Given the description of an element on the screen output the (x, y) to click on. 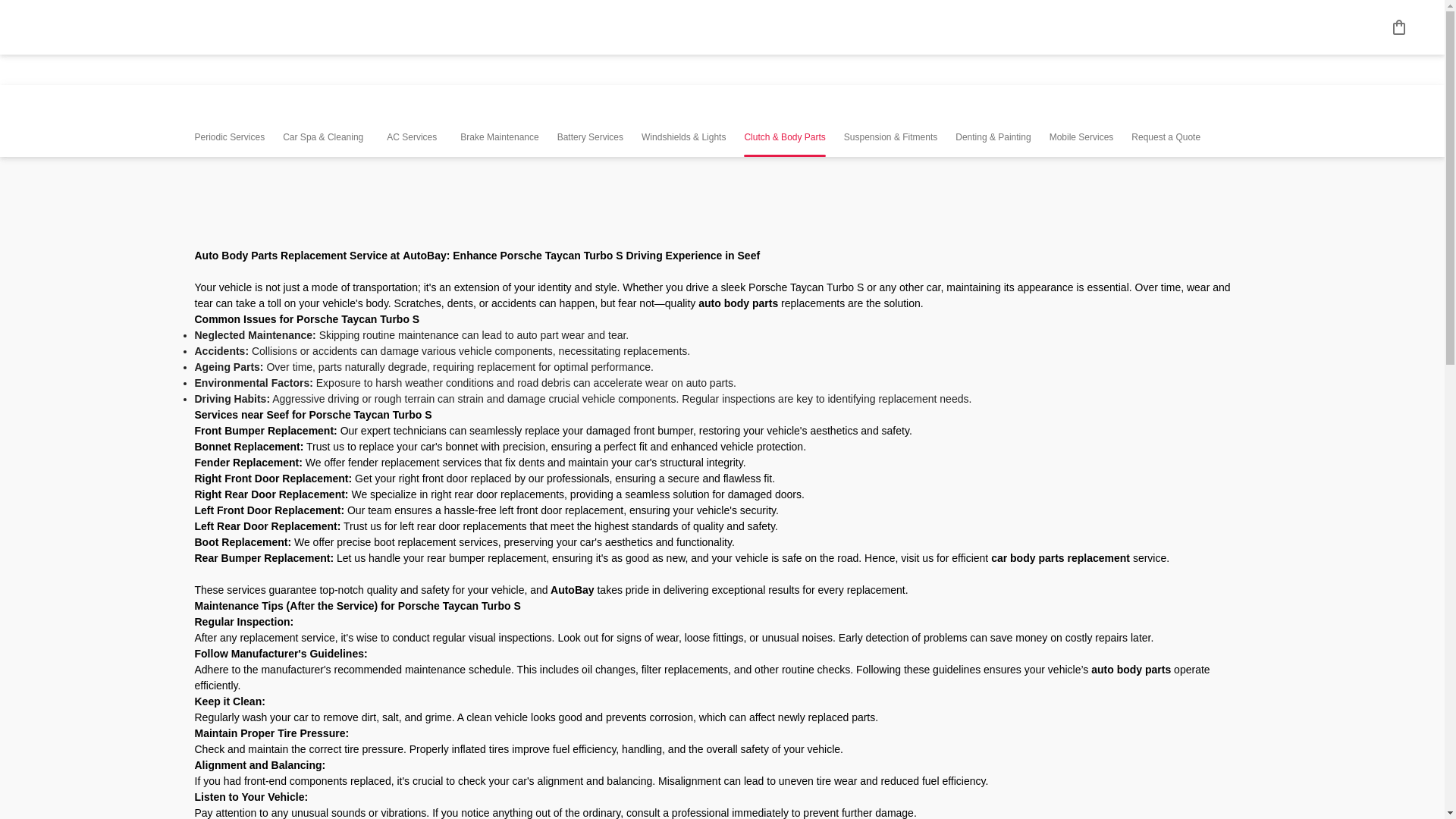
Brake Maintenance (499, 121)
Request a Quote (1165, 121)
Mobile Services (1081, 121)
Periodic Services (228, 121)
AC Services (411, 121)
Battery Services (590, 121)
